Given the description of an element on the screen output the (x, y) to click on. 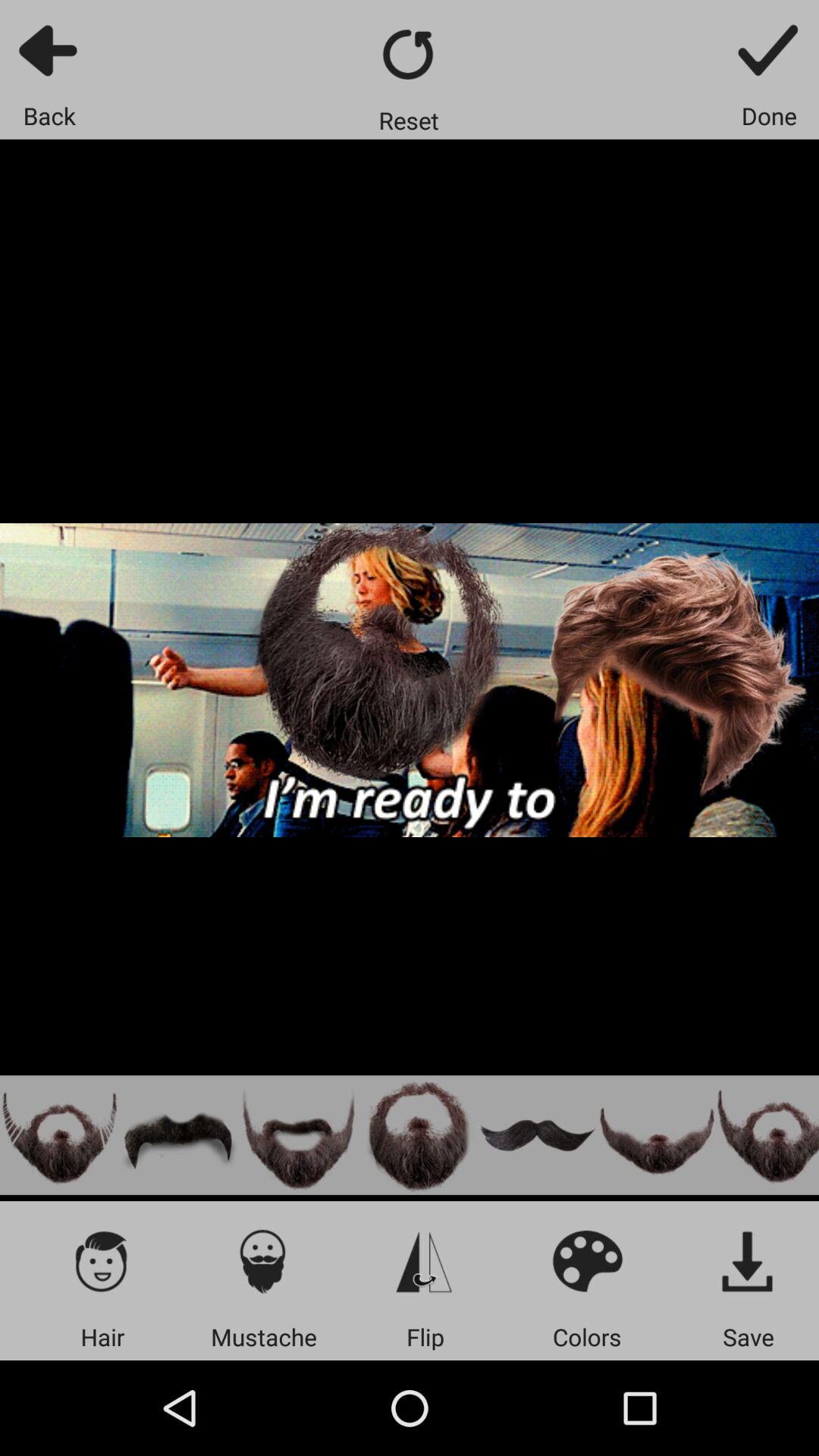
flick (425, 1260)
